Given the description of an element on the screen output the (x, y) to click on. 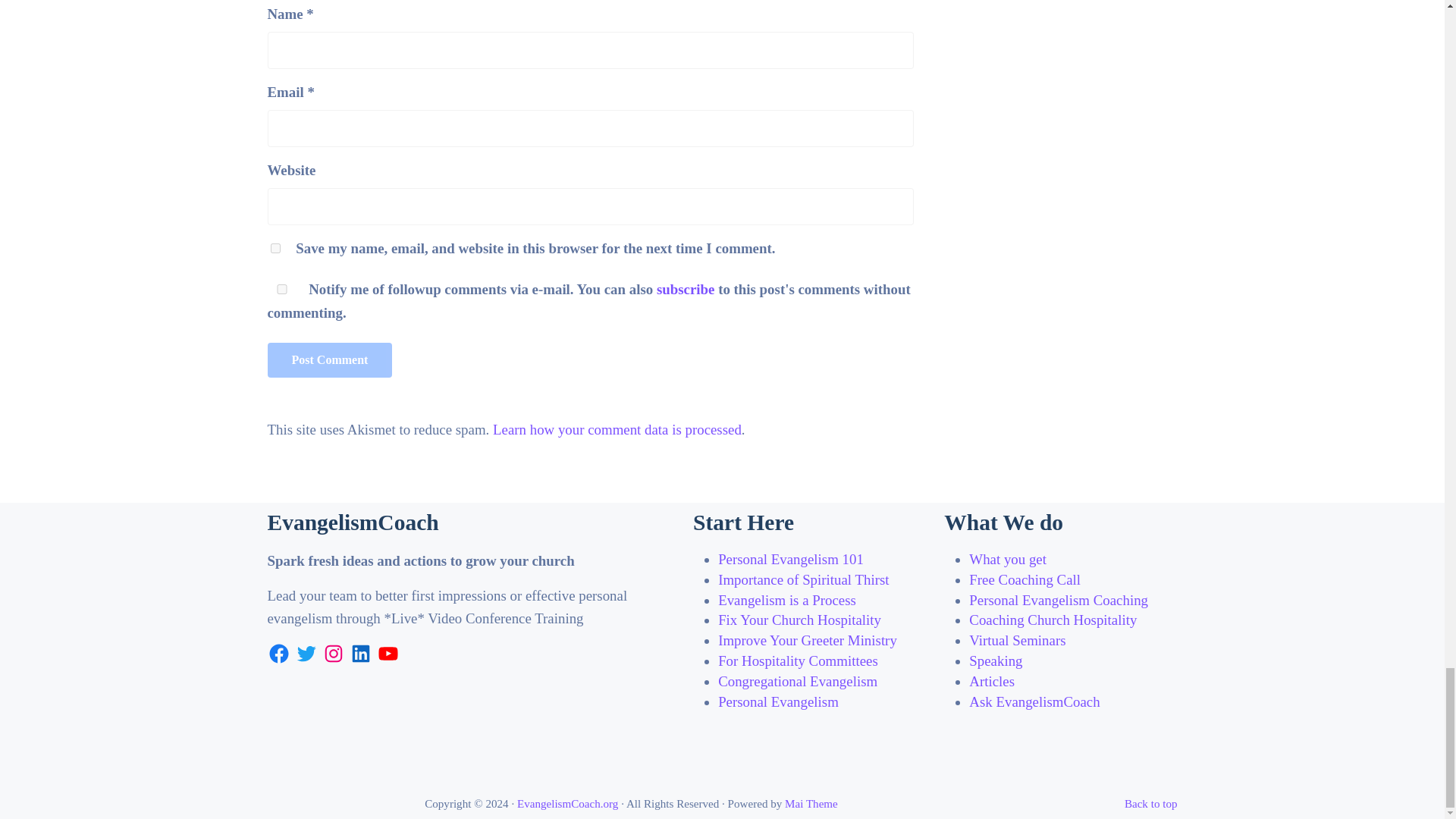
yes (280, 289)
Post Comment (328, 360)
yes (274, 248)
